Given the description of an element on the screen output the (x, y) to click on. 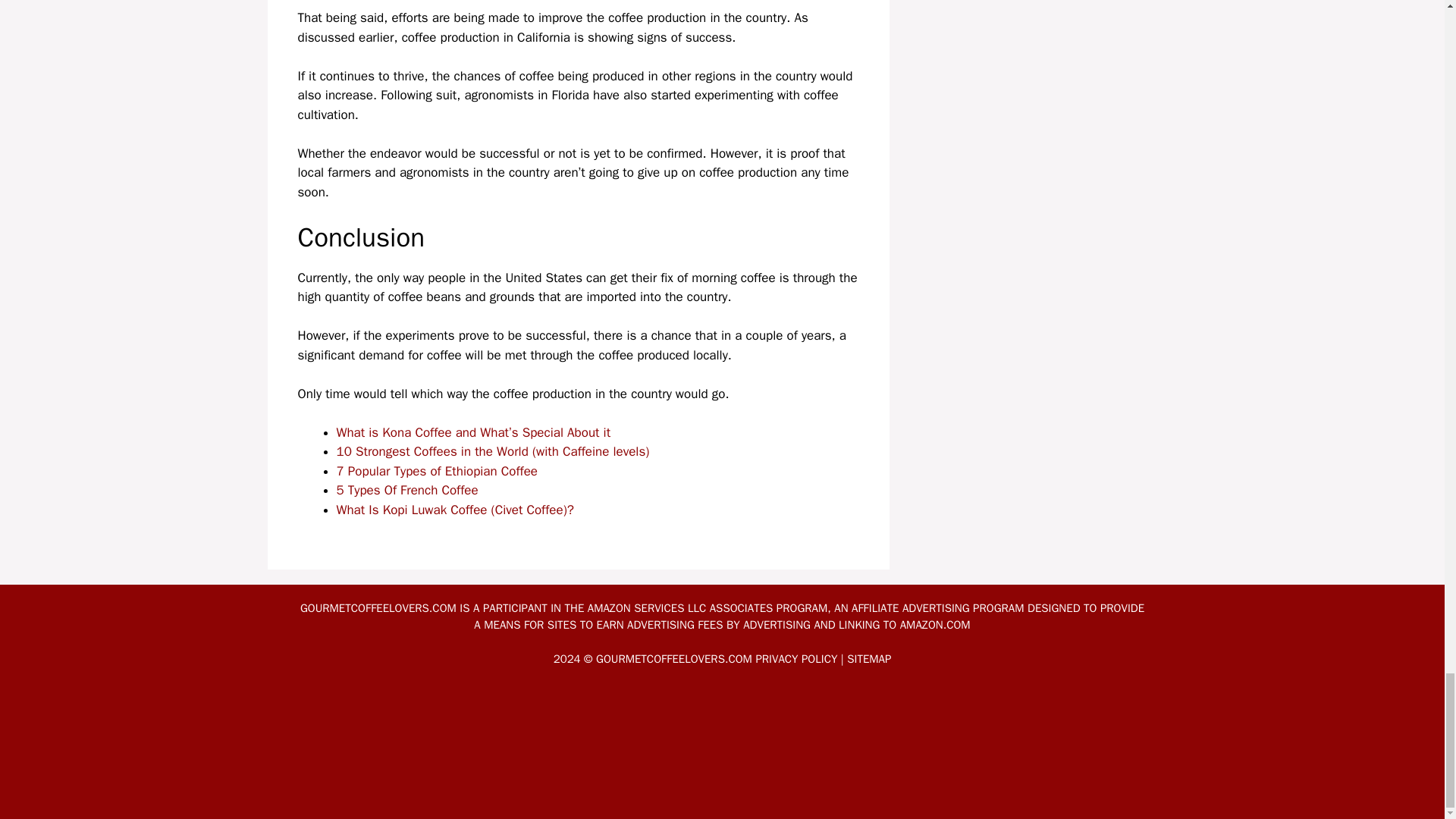
SITEMAP (869, 658)
PRIVACY POLICY (796, 658)
5 Types Of French Coffee (407, 489)
DMCA.com Protection Status (721, 794)
7 Popular Types of Ethiopian Coffee (437, 471)
